Given the description of an element on the screen output the (x, y) to click on. 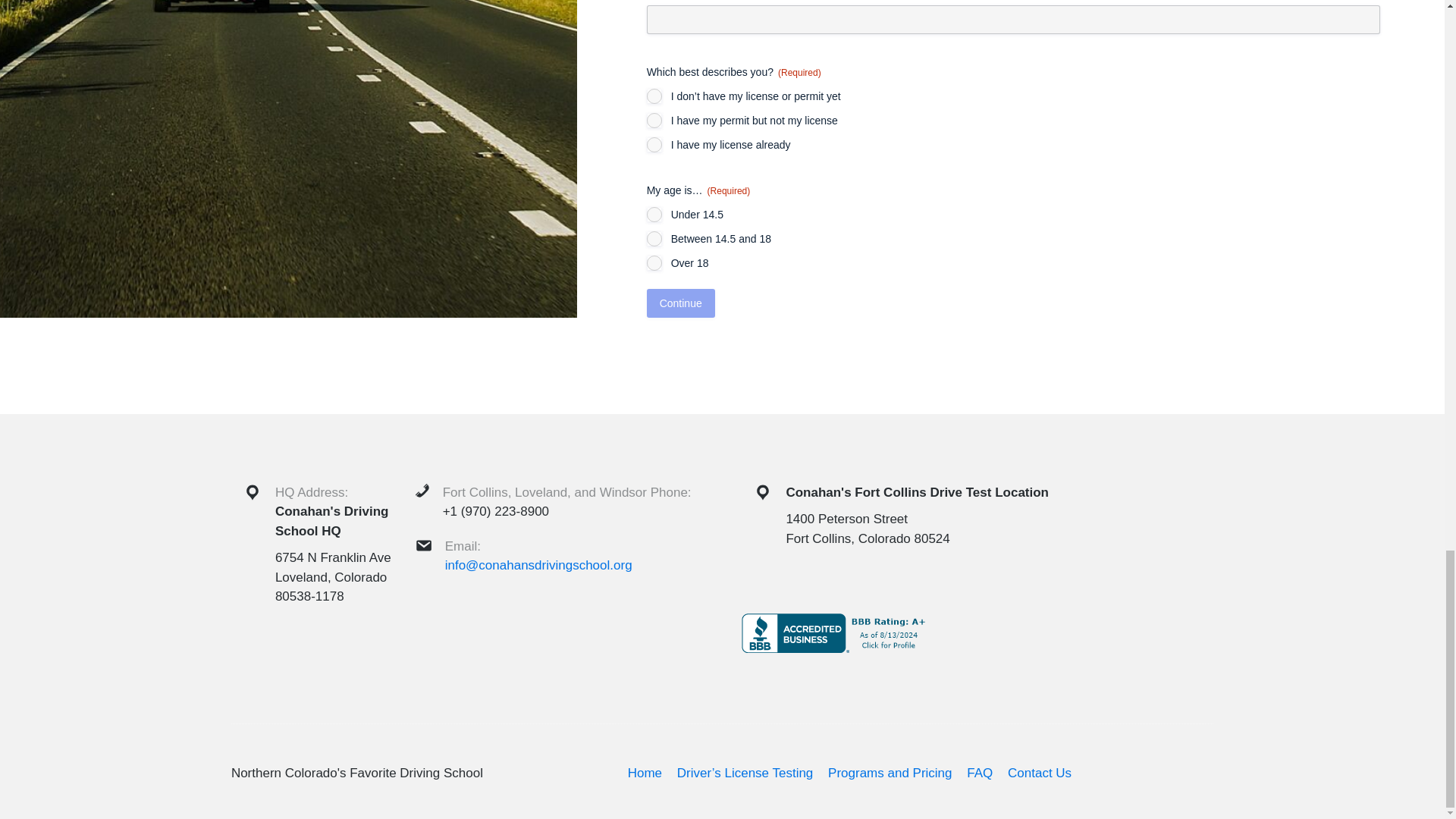
I have my license already (654, 144)
I don't have my license or permit yet (654, 96)
I have my permit but not my license (654, 120)
Home (644, 772)
Programs and Pricing (890, 772)
Continue (680, 303)
Continue (680, 303)
Over 18 (654, 263)
Between 14.5 and 18 (654, 238)
Under 14.5 (654, 214)
